Given the description of an element on the screen output the (x, y) to click on. 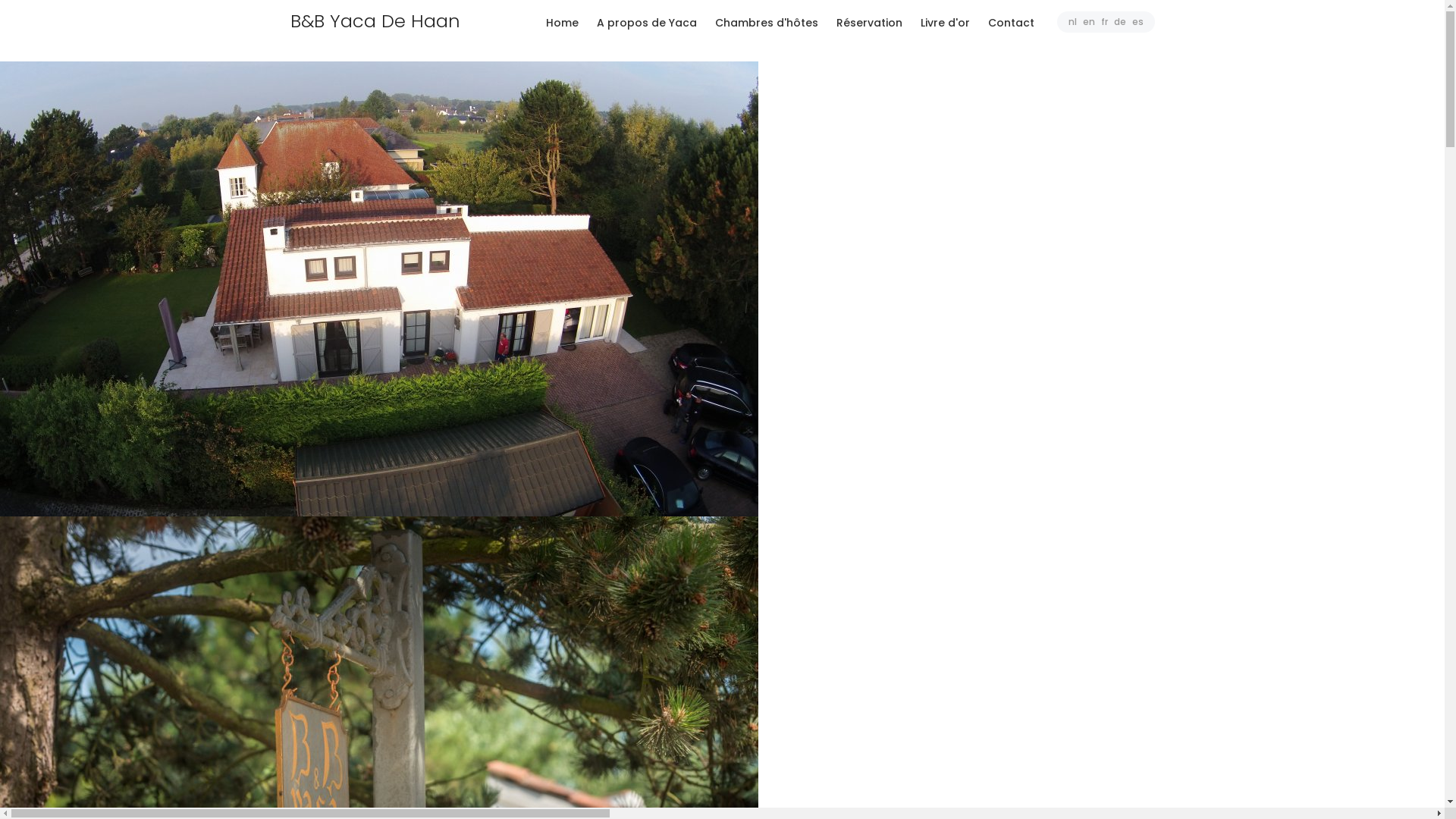
en Element type: text (1088, 21)
es Element type: text (1136, 21)
Home Element type: text (562, 22)
A propos de Yaca Element type: text (645, 22)
fr Element type: text (1104, 21)
nl Element type: text (1071, 21)
Contact Element type: text (1010, 22)
Livre d'or Element type: text (945, 22)
B&B Yaca De Haan Element type: text (389, 21)
de Element type: text (1119, 21)
